Given the description of an element on the screen output the (x, y) to click on. 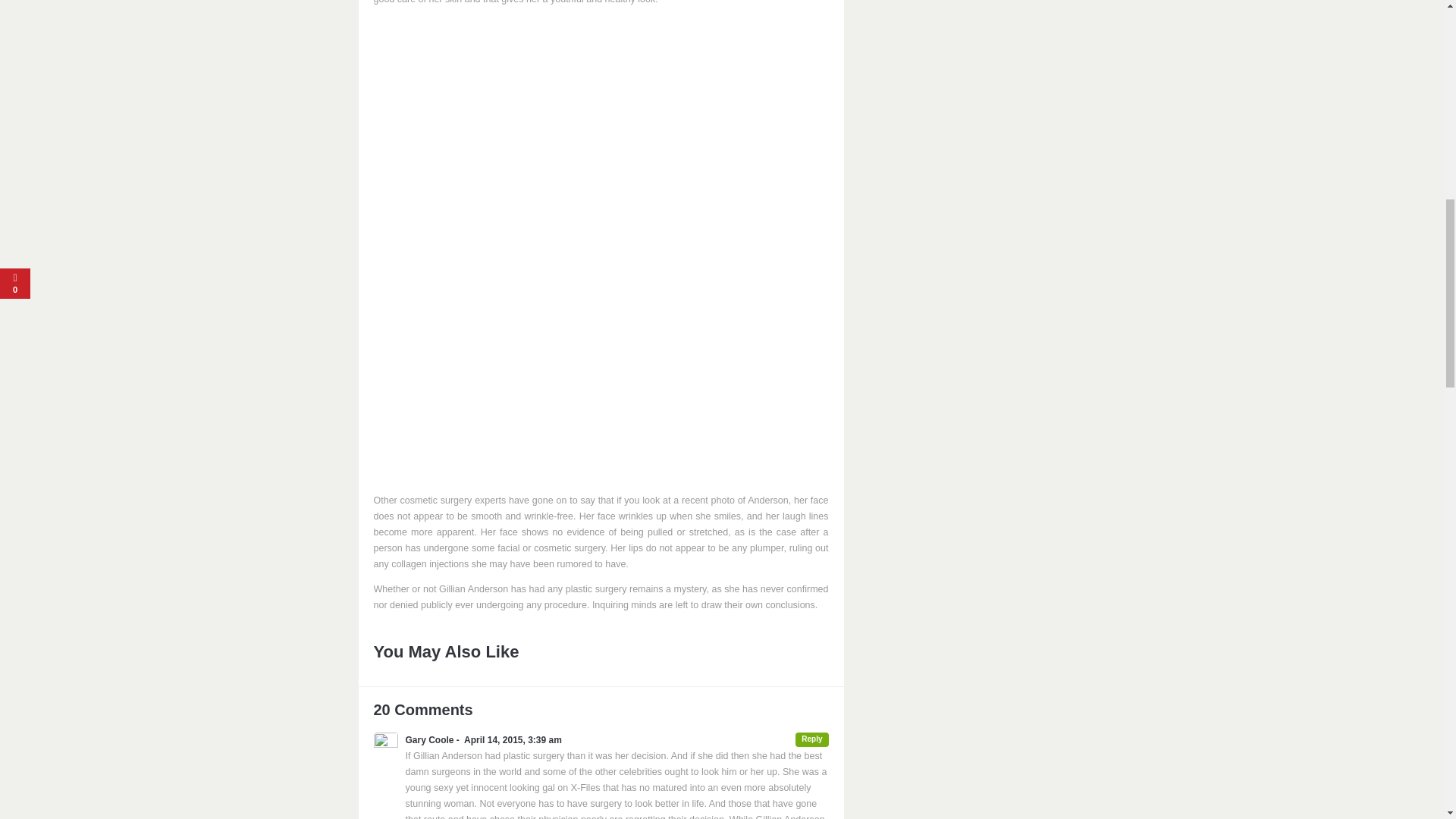
Reply (811, 739)
